Given the description of an element on the screen output the (x, y) to click on. 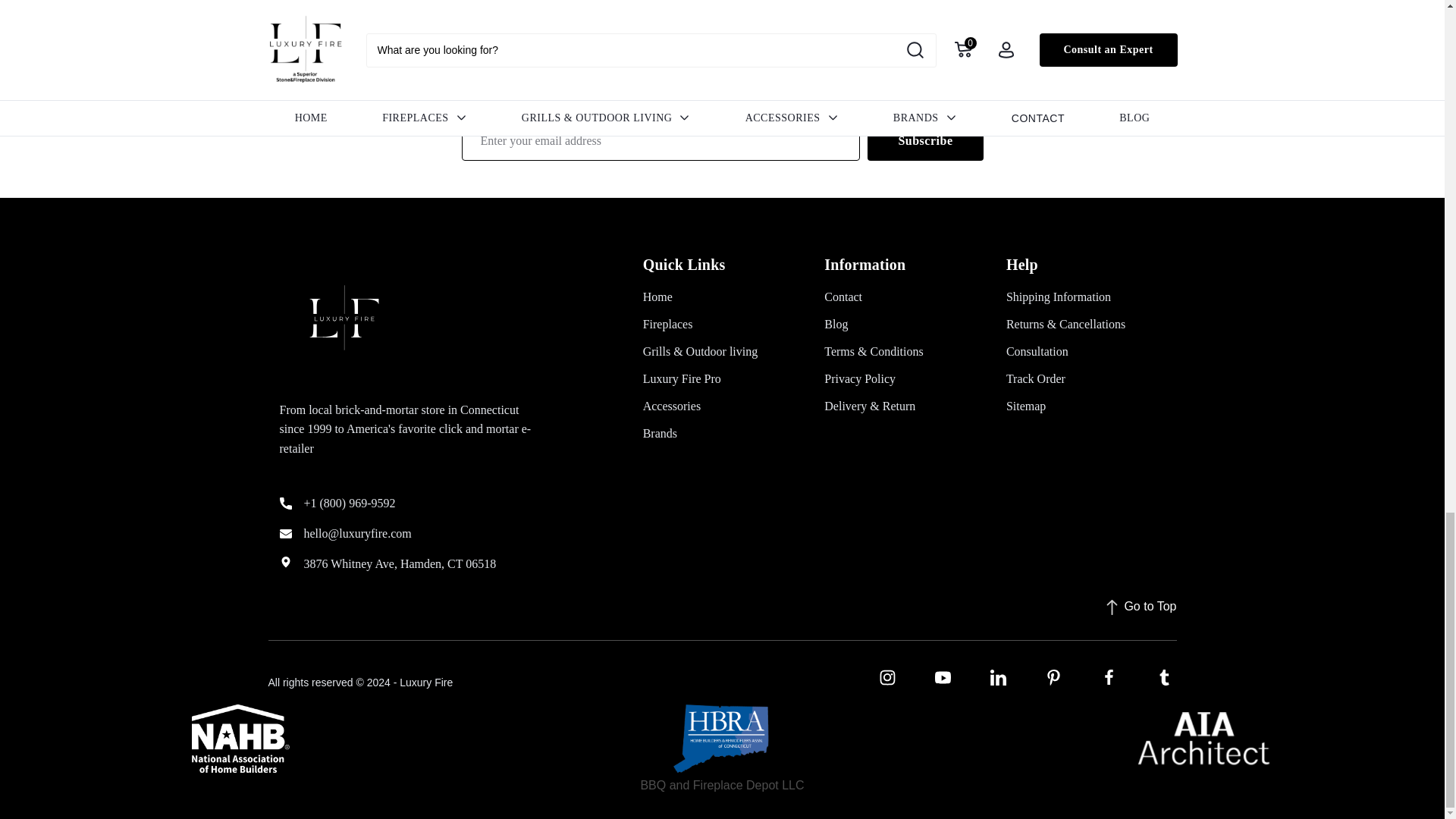
Subscribe (924, 140)
